Given the description of an element on the screen output the (x, y) to click on. 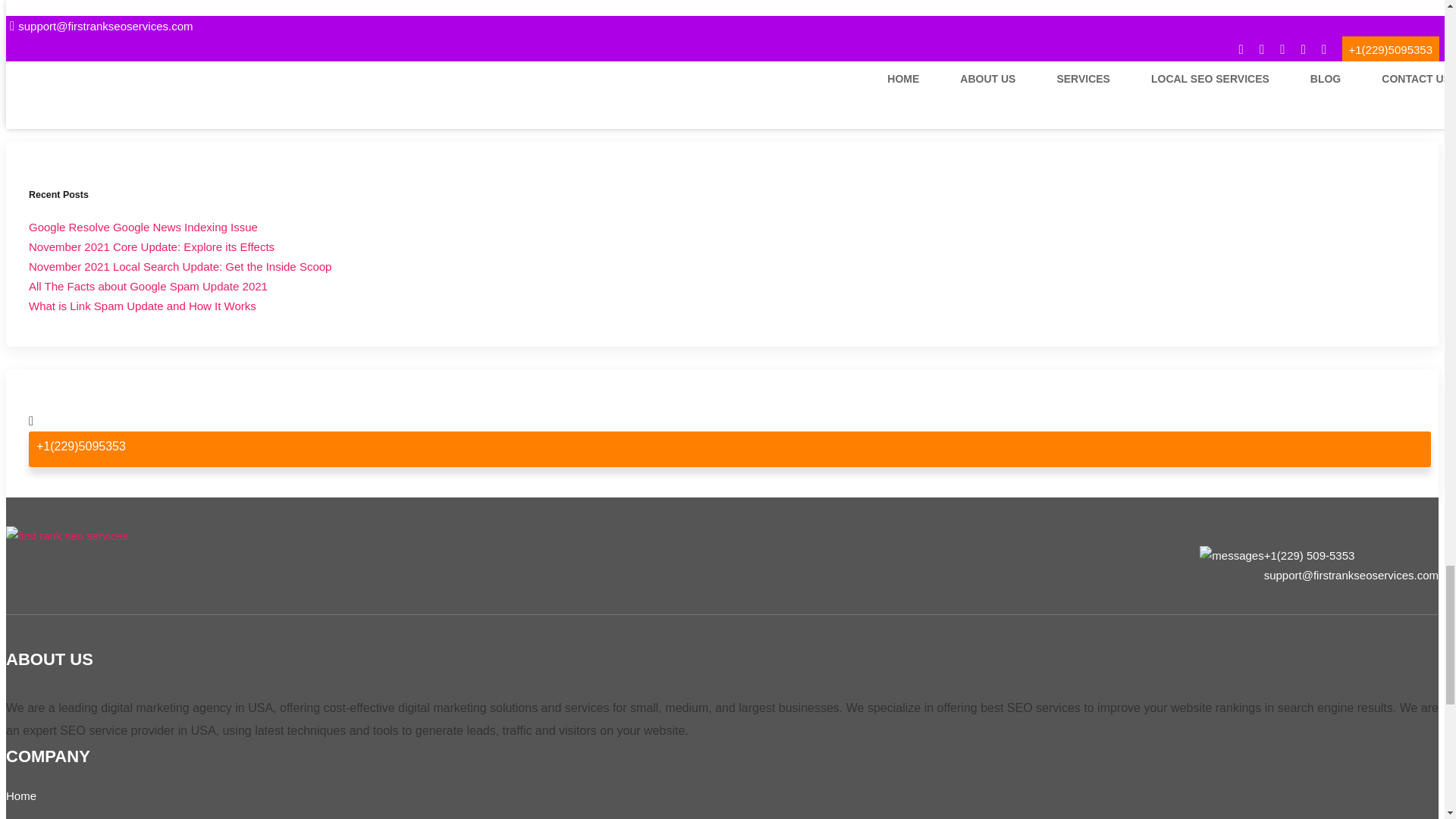
Search (276, 73)
Search (276, 73)
